Given the description of an element on the screen output the (x, y) to click on. 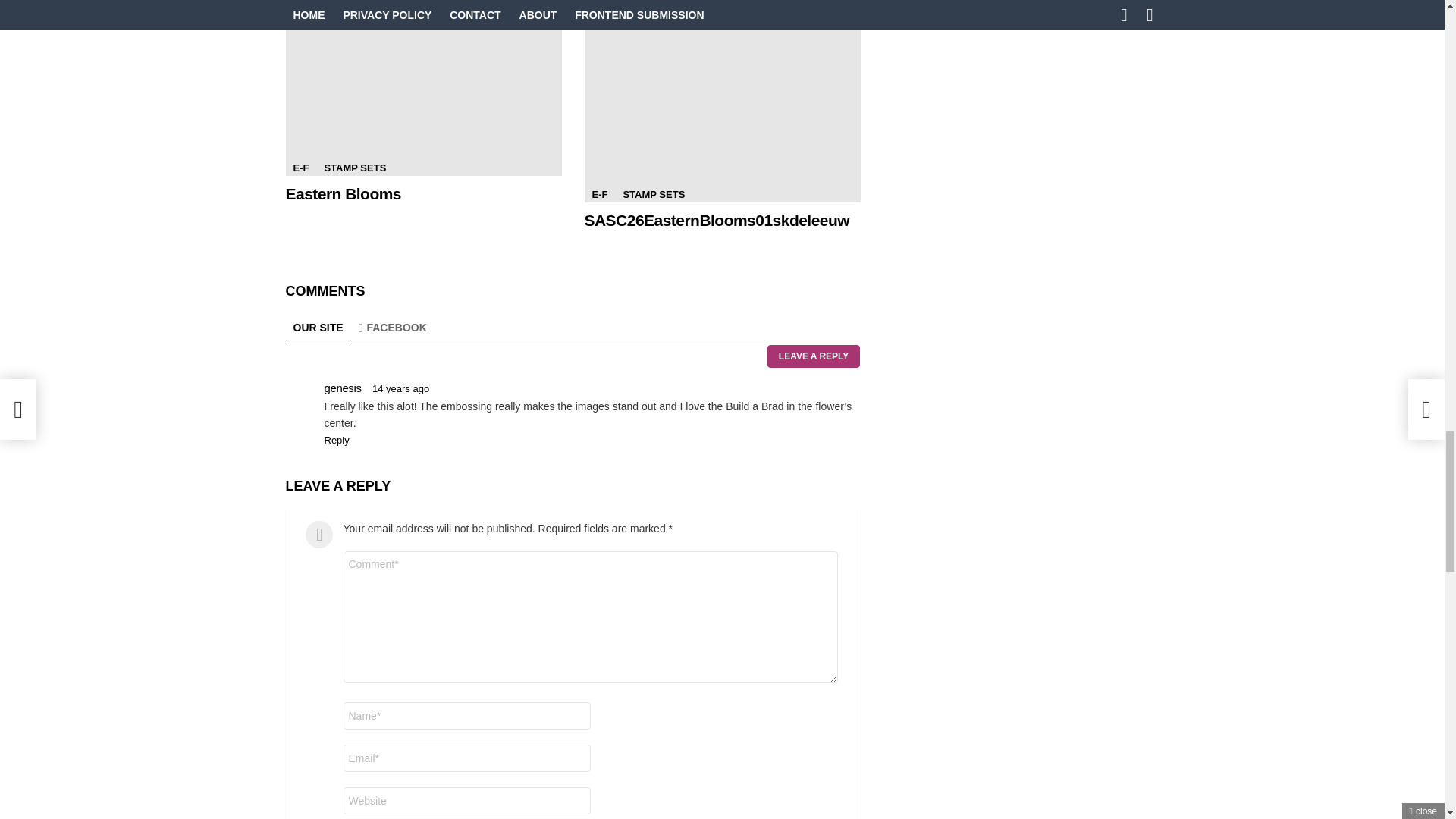
March 26, 2010 at 1:27 am (400, 388)
Eastern Blooms (422, 88)
SASC26EasternBlooms01skdeleeuw (721, 101)
